Given the description of an element on the screen output the (x, y) to click on. 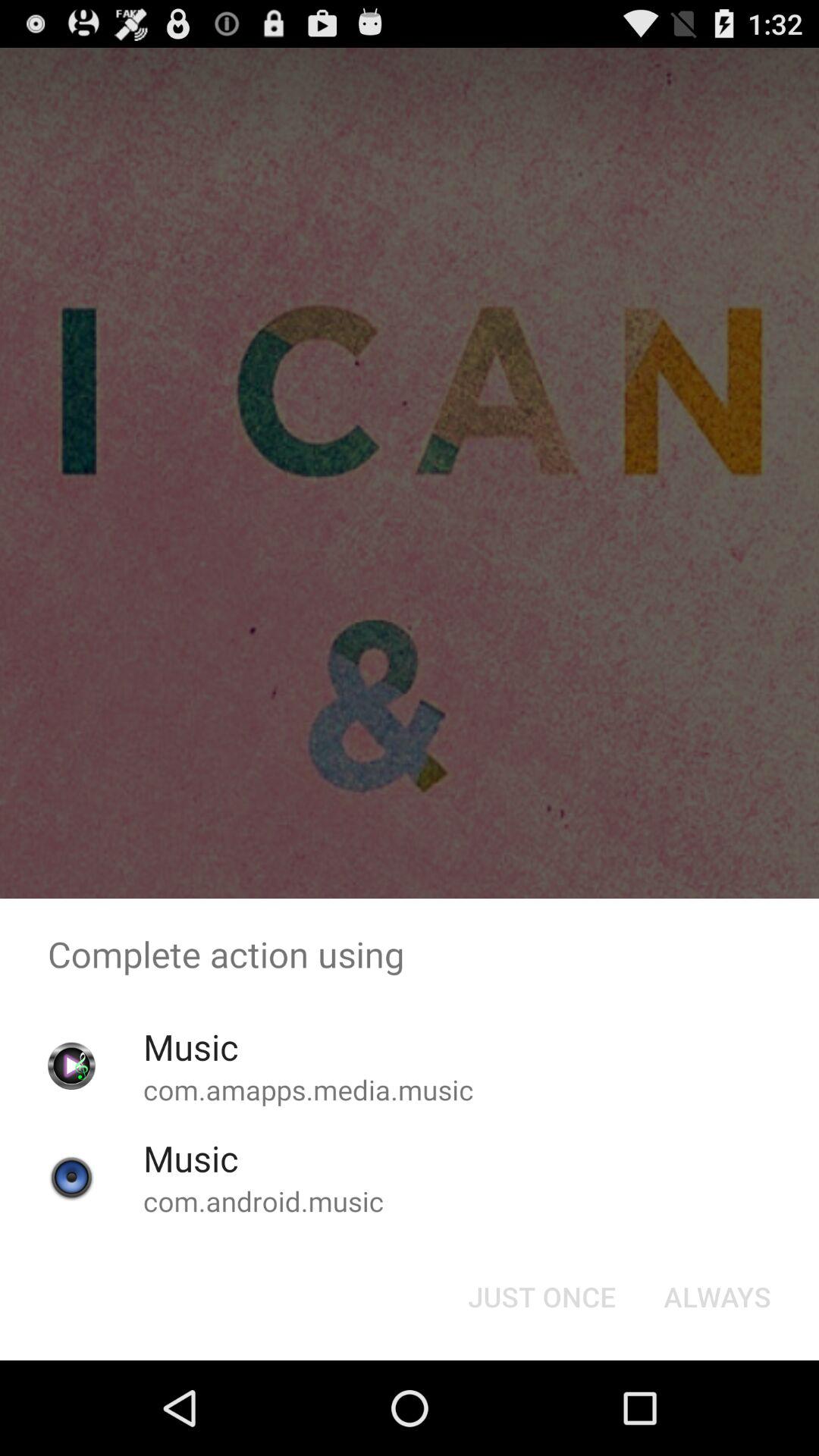
turn on item next to just once item (717, 1296)
